Given the description of an element on the screen output the (x, y) to click on. 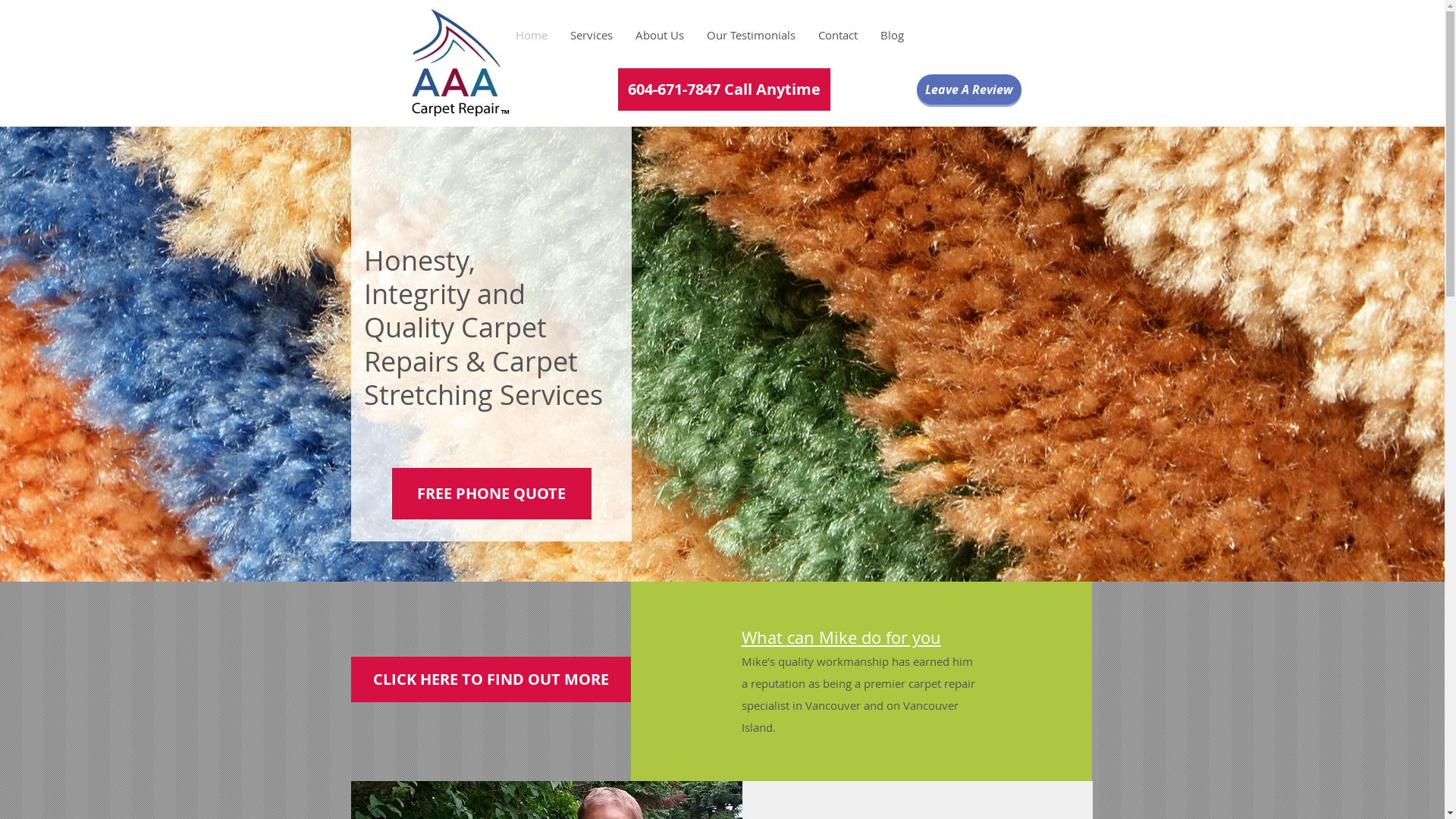
Our Testimonials Element type: text (750, 34)
About Us Element type: text (658, 34)
Contact Element type: text (837, 34)
FREE PHONE QUOTE Element type: text (490, 493)
Home Element type: text (530, 34)
Leave A Review Element type: text (968, 89)
604-671-7847 Call Anytime Element type: text (723, 89)
Services Element type: text (590, 34)
What can Mike do for you Element type: text (841, 637)
Blog Element type: text (892, 34)
CLICK HERE TO FIND OUT MORE Element type: text (490, 679)
